Given the description of an element on the screen output the (x, y) to click on. 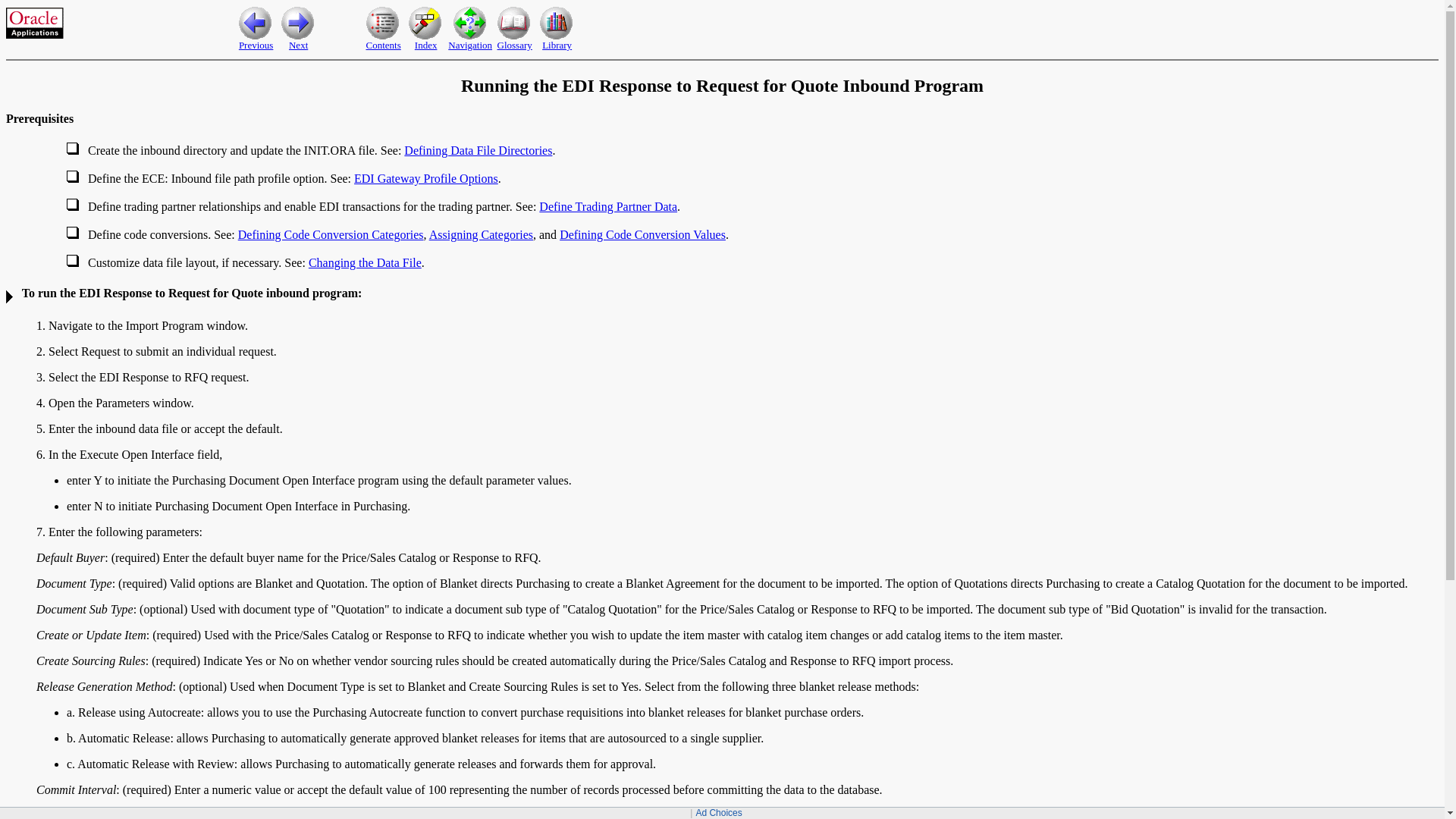
Index (426, 44)
EDI Gateway Profile Options (425, 178)
Ad Choices (718, 812)
Assigning Categories (480, 234)
Defining Data File Directories (477, 150)
Changing the Data File (365, 262)
Define Trading Partner Data (607, 205)
Next (297, 44)
Previous (255, 44)
Contents (382, 44)
Navigation (470, 44)
Defining Code Conversion Values (642, 234)
Defining Code Conversion Categories (330, 234)
Library (556, 44)
Glossary (514, 44)
